Given the description of an element on the screen output the (x, y) to click on. 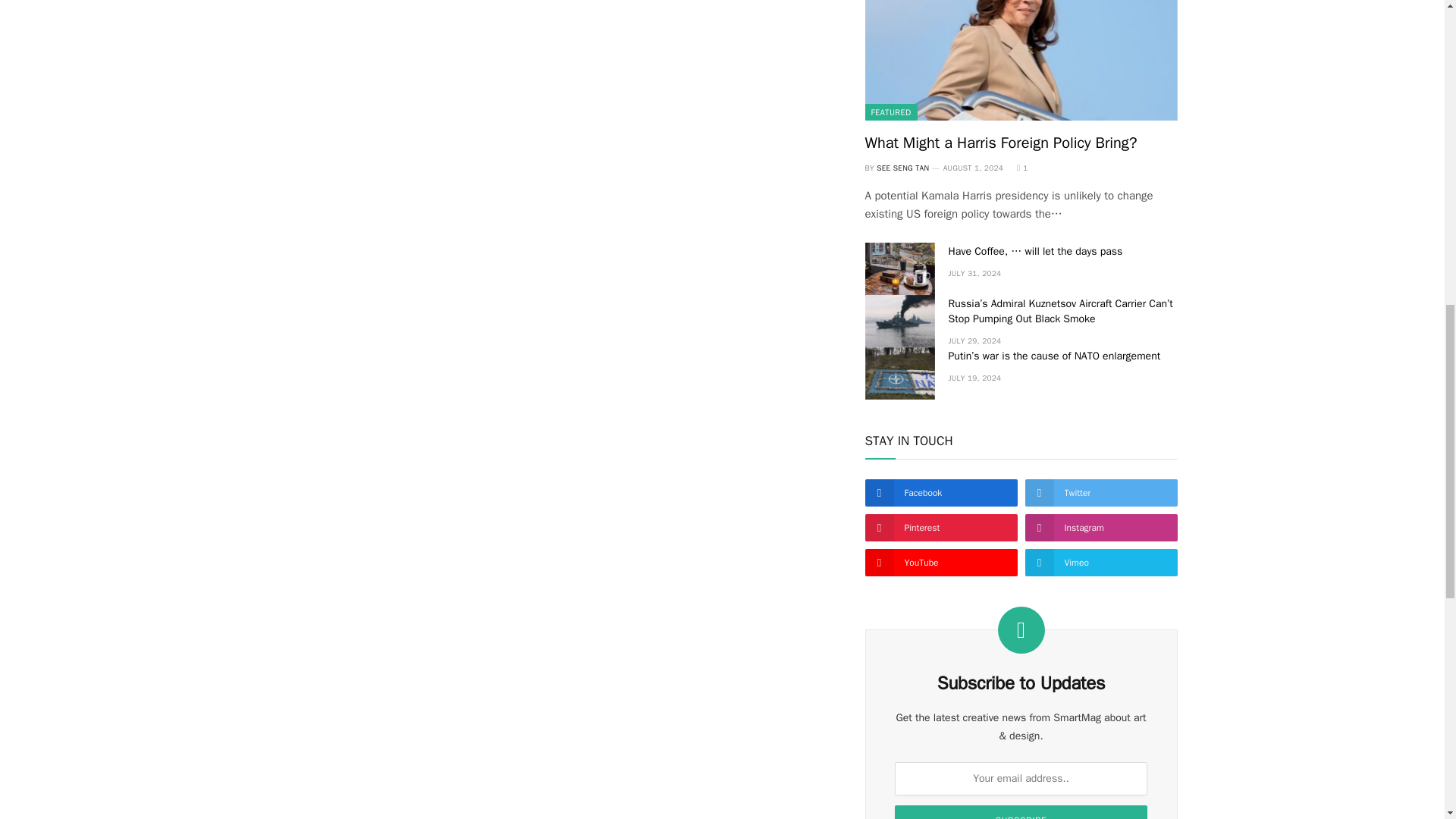
Subscribe (1021, 812)
